Given the description of an element on the screen output the (x, y) to click on. 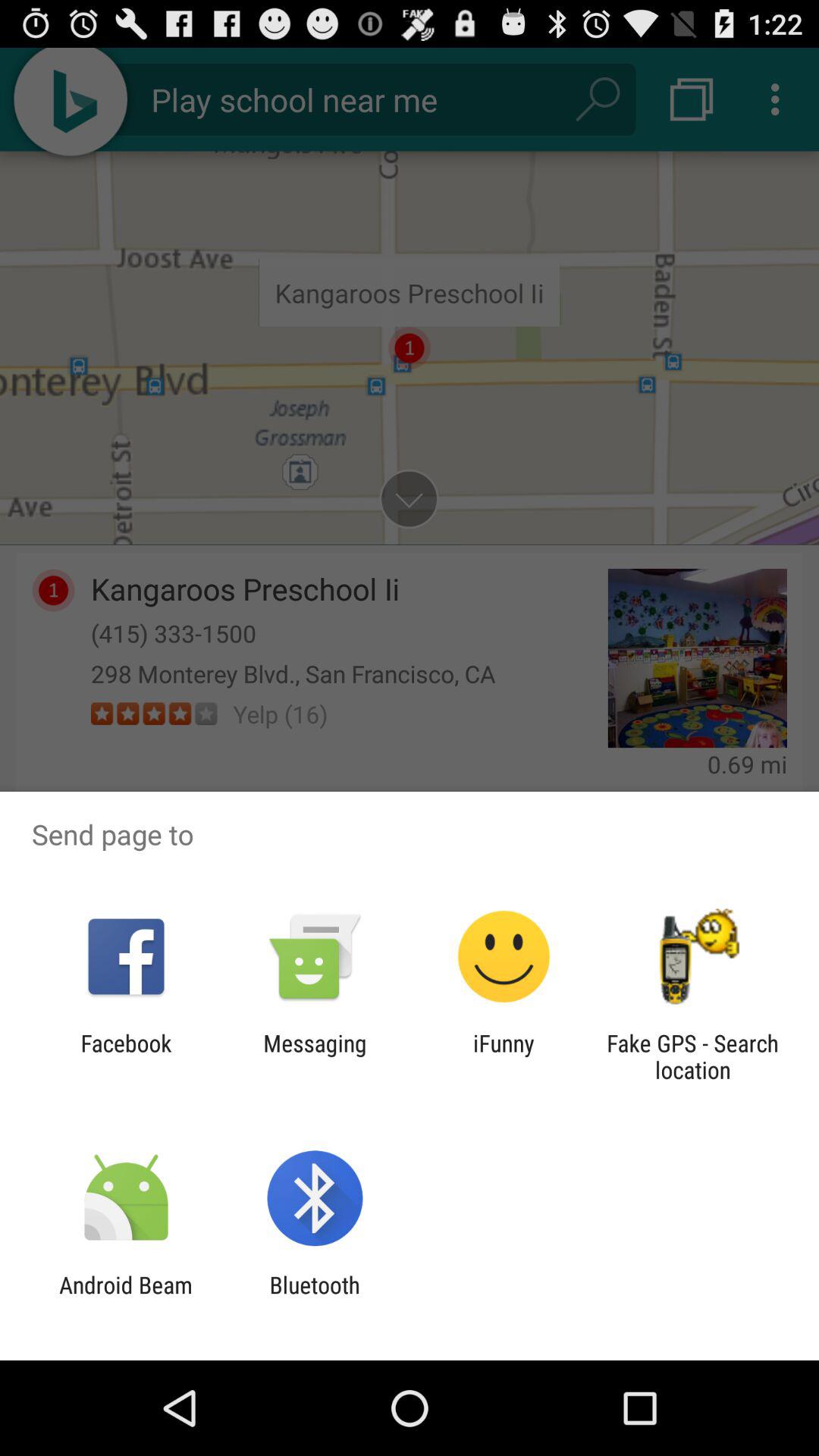
open fake gps search icon (692, 1056)
